Given the description of an element on the screen output the (x, y) to click on. 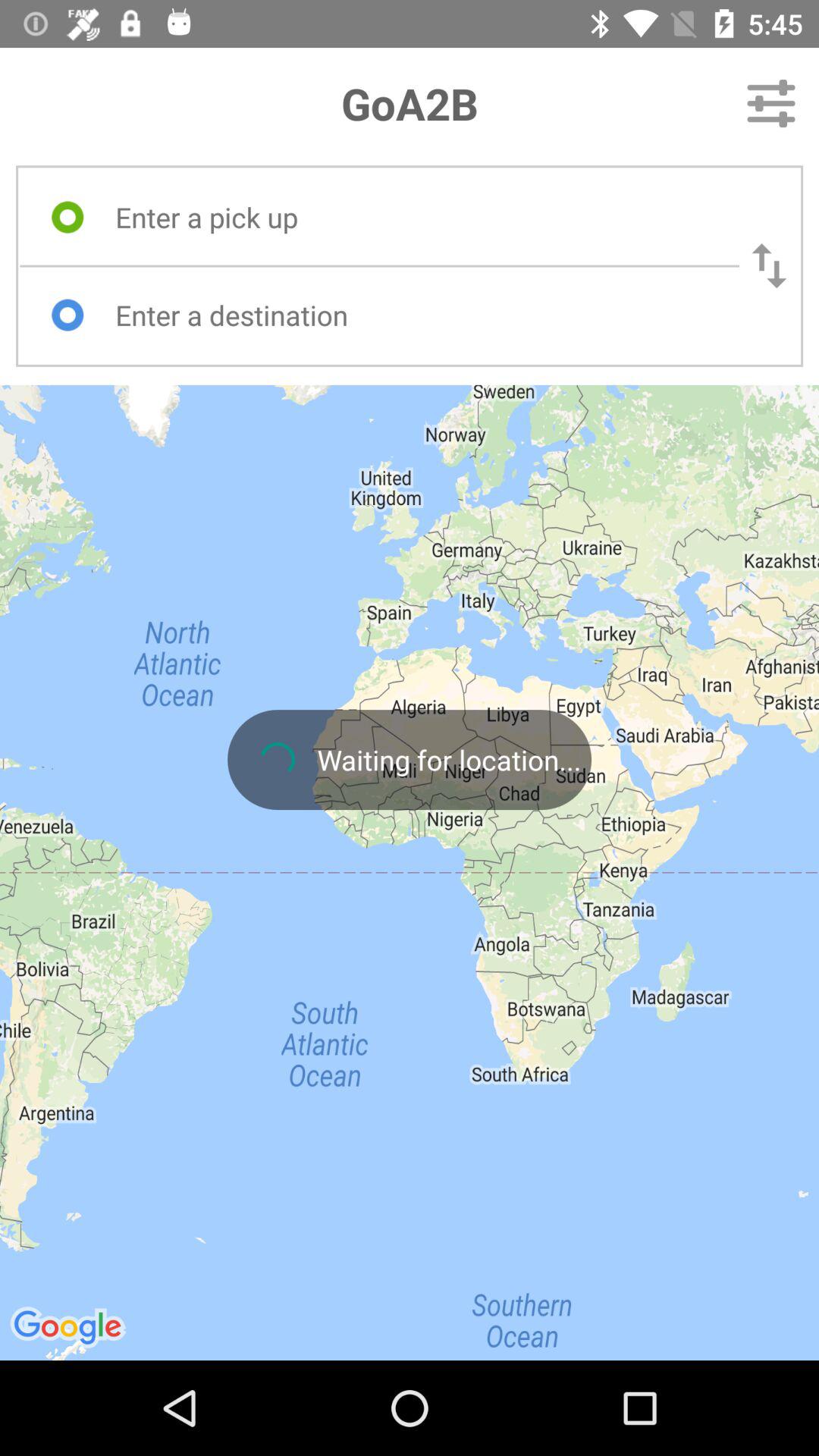
turn on the item below goa2b icon (413, 216)
